Given the description of an element on the screen output the (x, y) to click on. 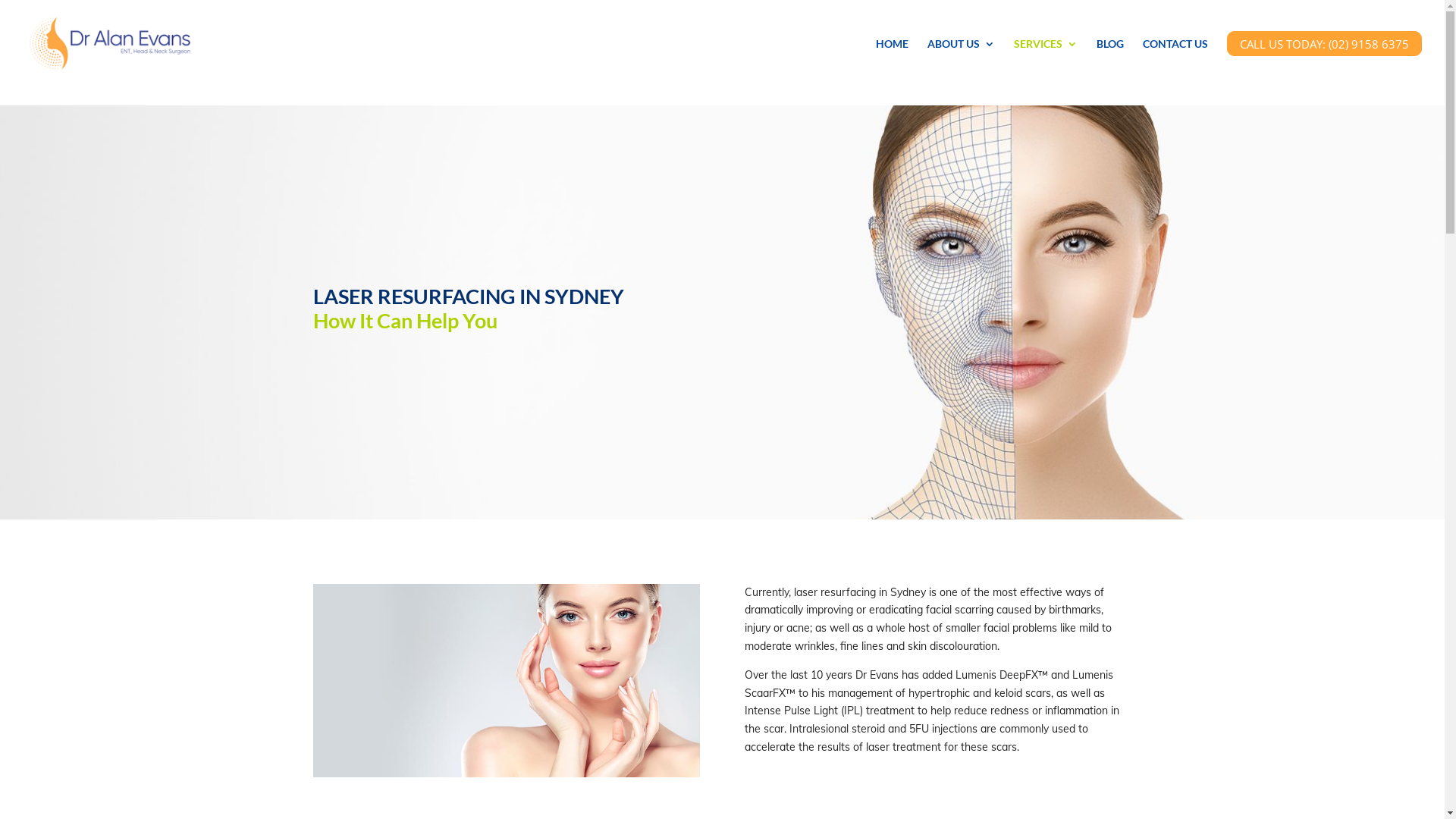
HOME Element type: text (891, 60)
ABOUT US Element type: text (960, 60)
CONTACT US Element type: text (1175, 60)
SERVICES Element type: text (1045, 60)
BLOG Element type: text (1109, 60)
CALL US TODAY: (02) 9158 6375 Element type: text (1323, 60)
skin-resurfacing-Sydney Element type: hover (505, 680)
